Given the description of an element on the screen output the (x, y) to click on. 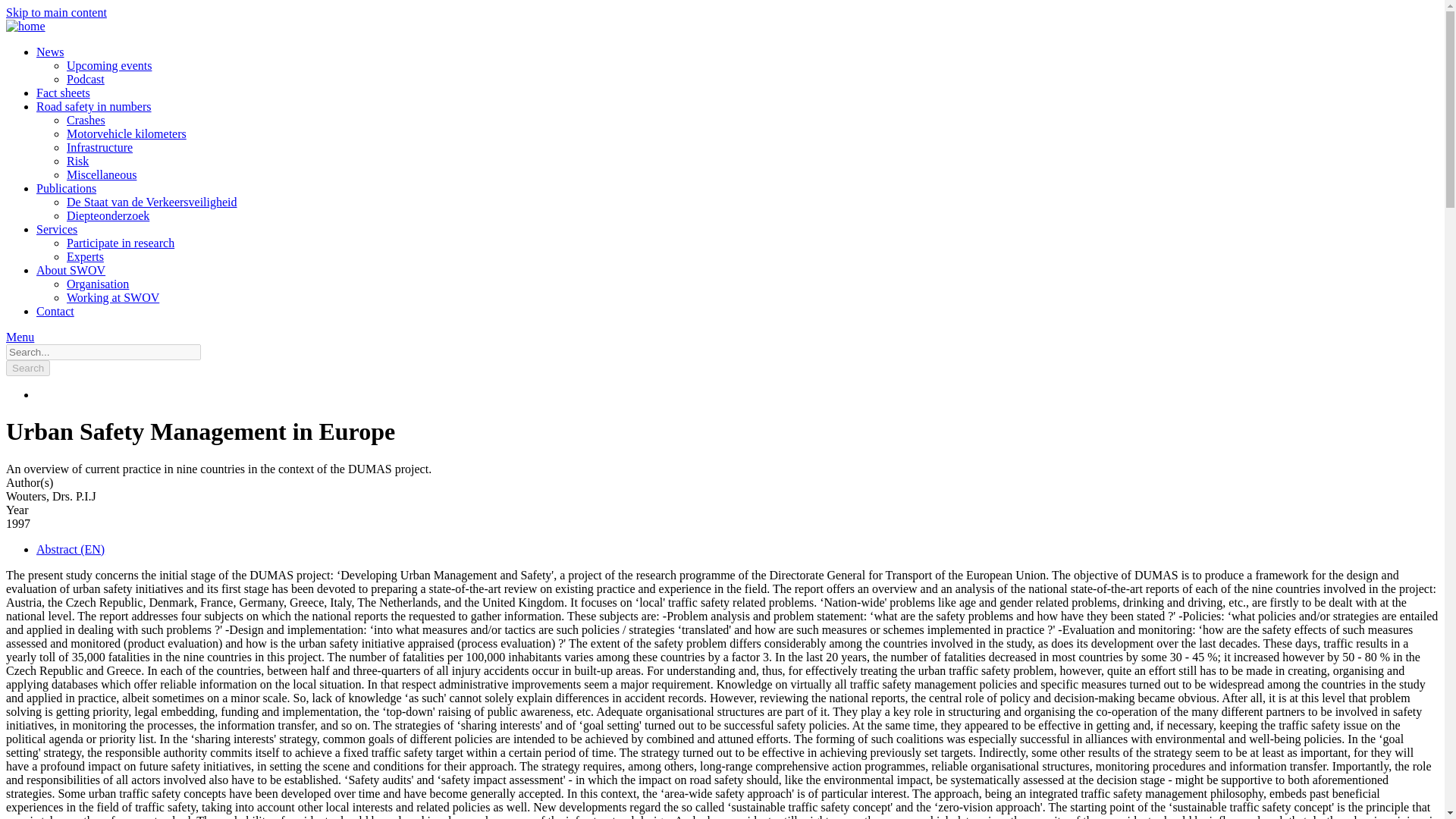
Services (56, 228)
Infrastructure (99, 146)
Experts (84, 256)
home (25, 26)
Miscellaneous (101, 174)
News (50, 51)
Menu (19, 336)
Working at SWOV (112, 297)
De Staat van de Verkeersveiligheid (151, 201)
Diepteonderzoek (107, 215)
Fact sheets (63, 92)
Organisation (97, 283)
Participate in research (120, 242)
Motorvehicle kilometers (126, 133)
Skip to main content (55, 11)
